Given the description of an element on the screen output the (x, y) to click on. 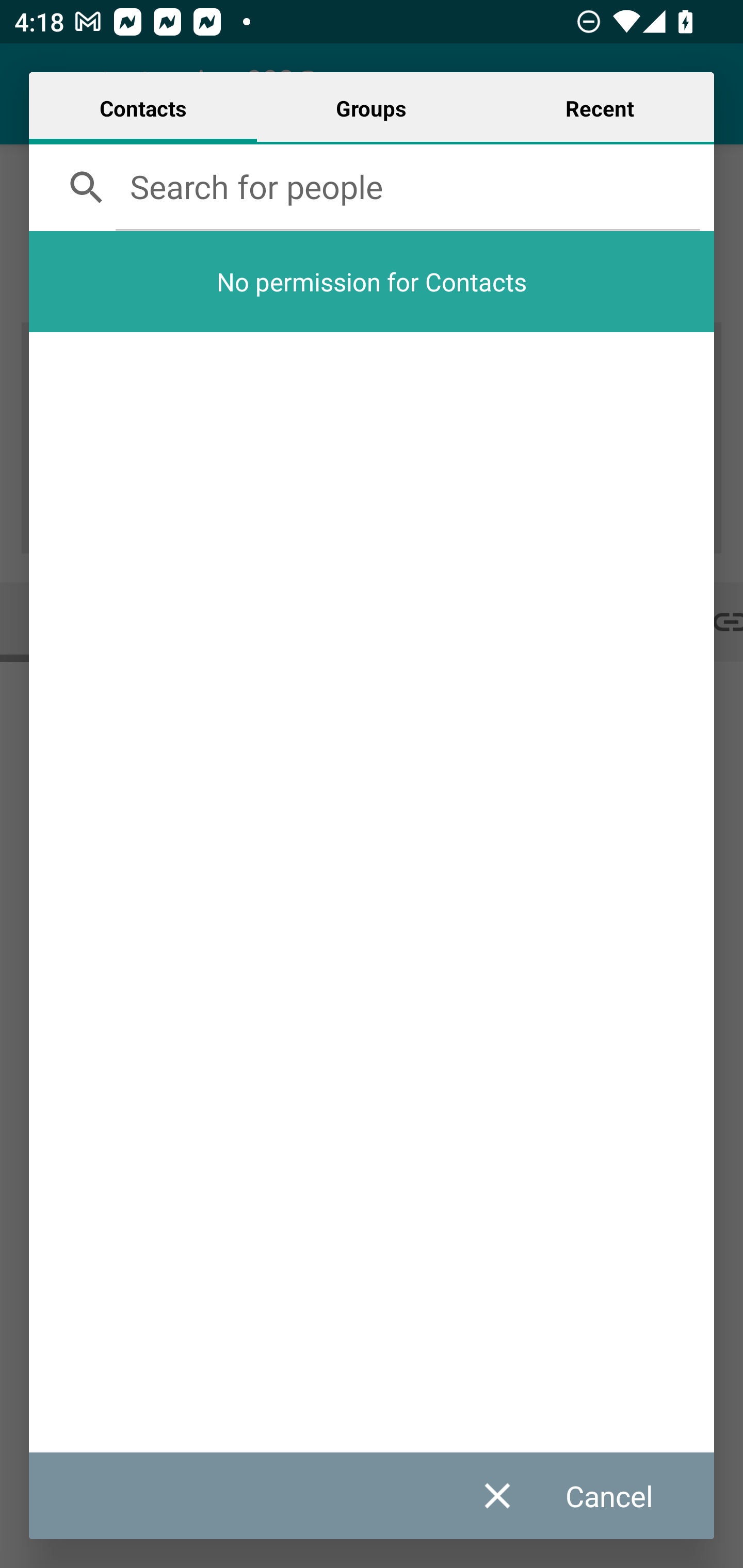
Contacts (142, 108)
Groups (371, 108)
Recent (599, 108)
Search for people (407, 186)
No permission for Contacts (371, 281)
Cancel Cancel Cancel (587, 1495)
